Given the description of an element on the screen output the (x, y) to click on. 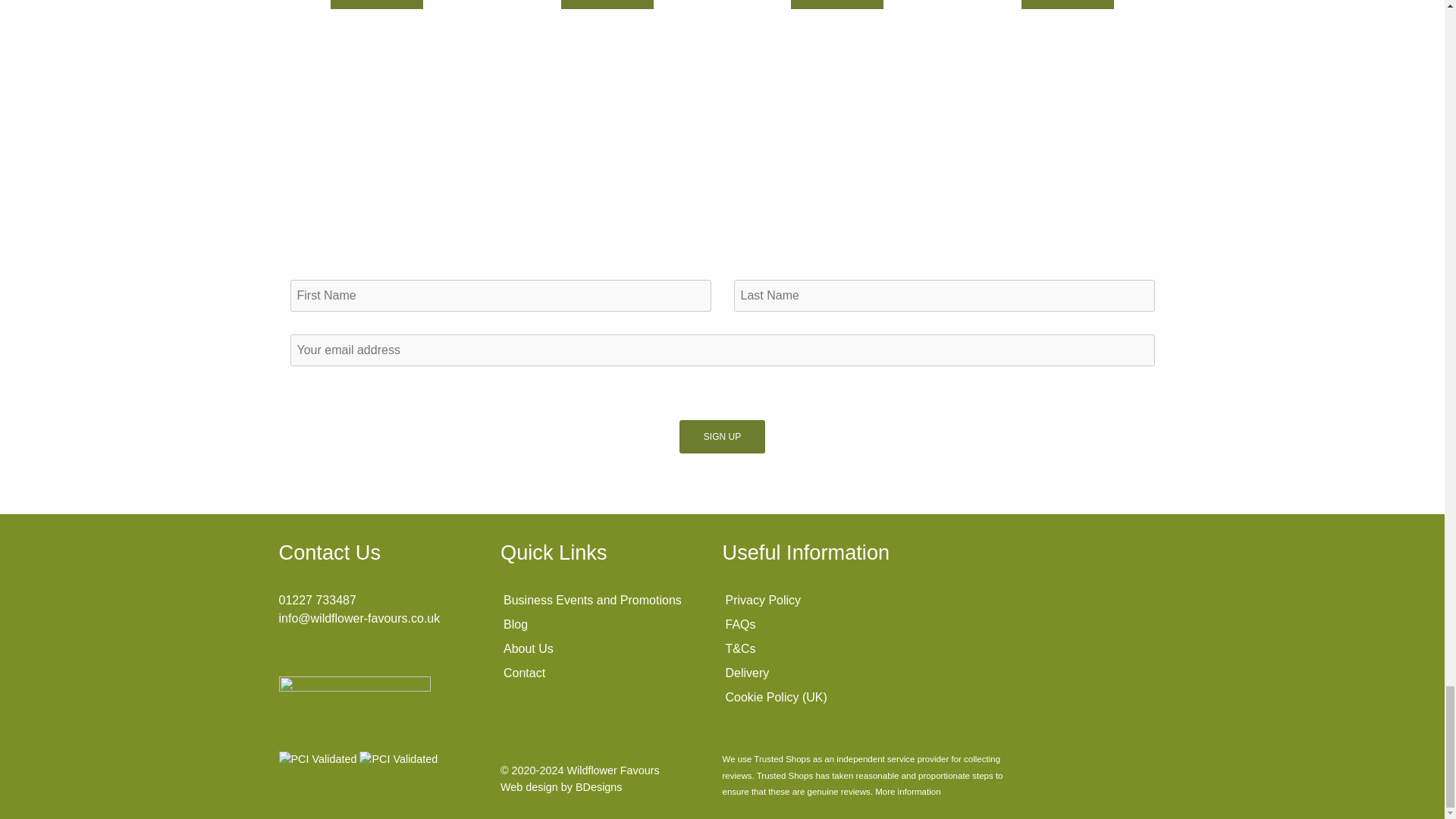
Sign up (722, 436)
